Given the description of an element on the screen output the (x, y) to click on. 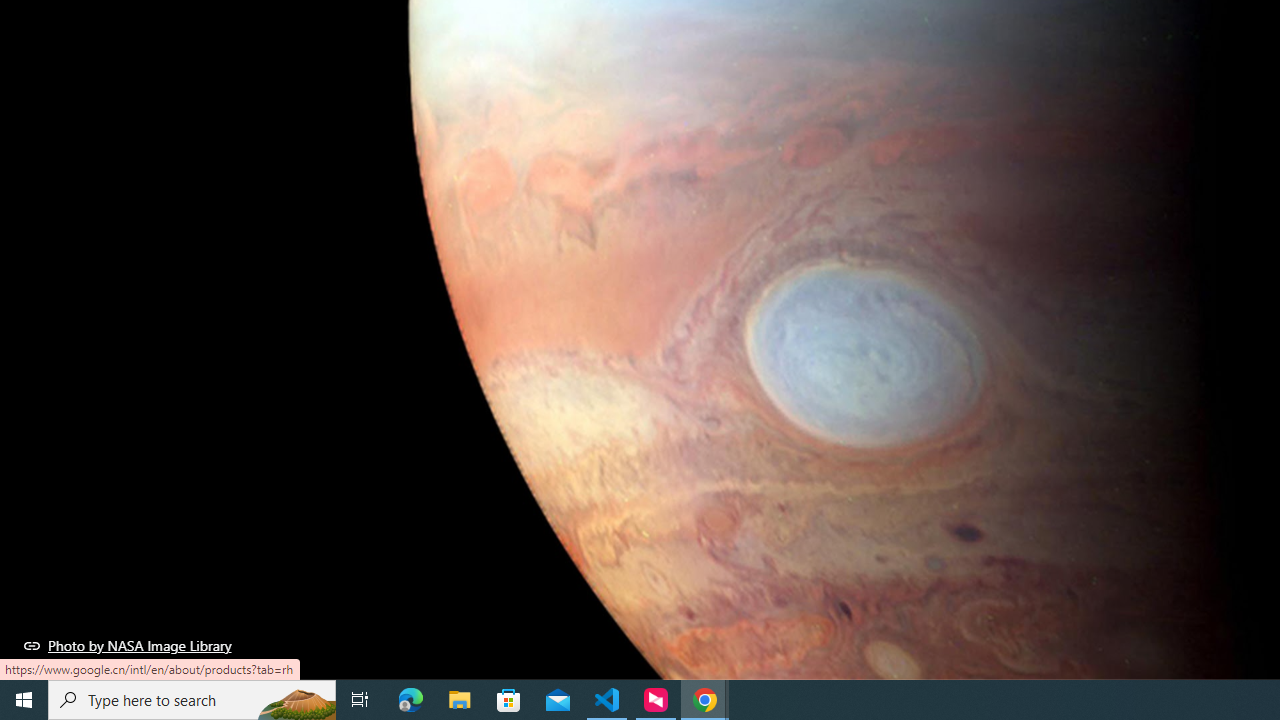
Photo by NASA Image Library (127, 645)
